Given the description of an element on the screen output the (x, y) to click on. 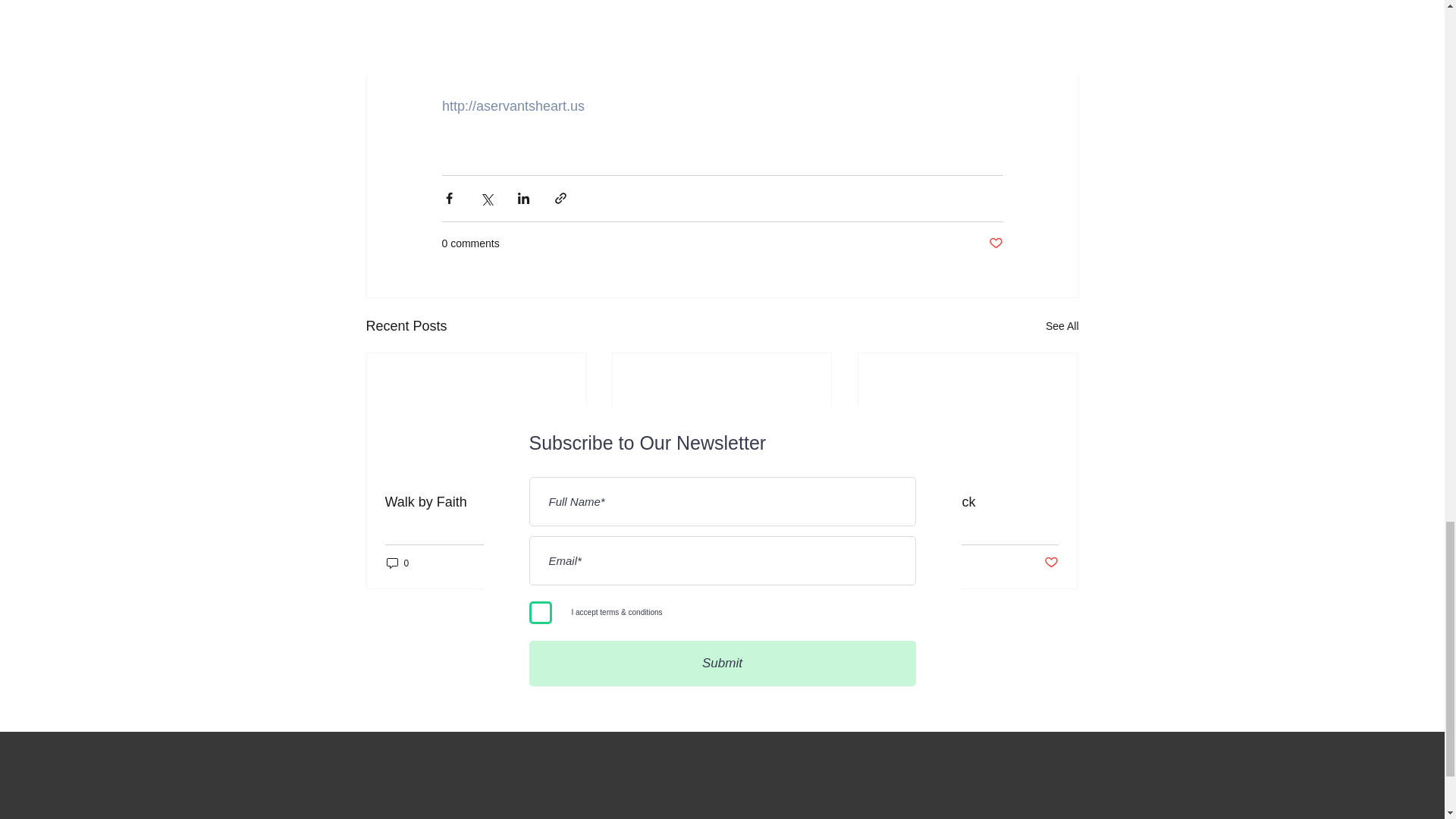
Submit (722, 663)
Post not marked as liked (558, 562)
See All (1061, 326)
0 (889, 563)
Post not marked as liked (1050, 562)
Post not marked as liked (804, 562)
0 (643, 563)
Advocate Helper (721, 502)
Post not marked as liked (995, 243)
0 (397, 563)
Ask Seek Knock (967, 502)
Walk by Faith (476, 502)
